Given the description of an element on the screen output the (x, y) to click on. 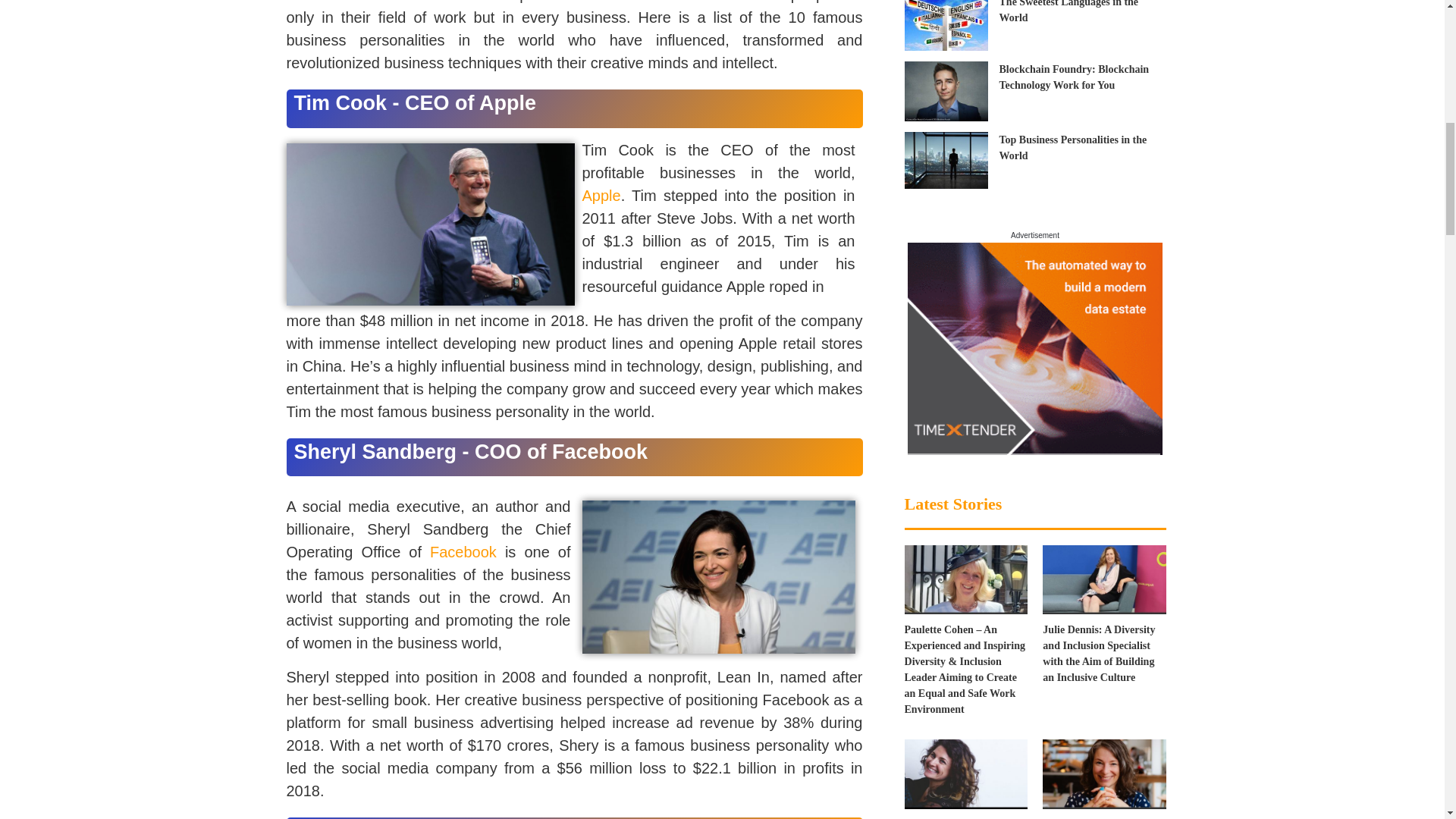
Facebook (467, 551)
Apple (601, 195)
